Given the description of an element on the screen output the (x, y) to click on. 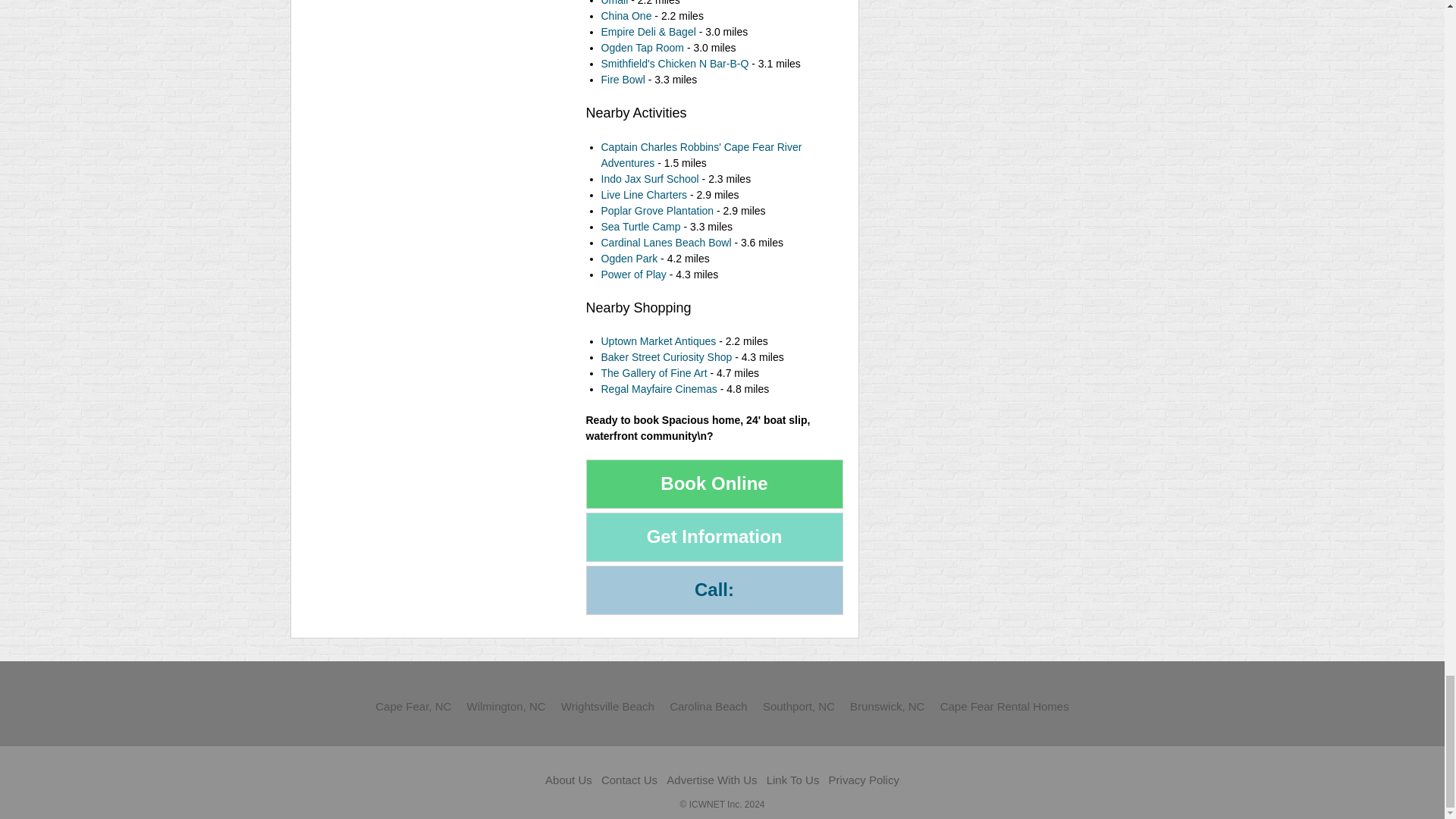
Indo Jax Surf School (648, 178)
Ogden Tap Room (642, 47)
Captain Charles Robbins' Cape Fear River Adventures (700, 154)
China One (624, 15)
Fire Bowl (622, 79)
Smithfield's Chicken N Bar-B-Q (675, 63)
Umaii (613, 2)
